Given the description of an element on the screen output the (x, y) to click on. 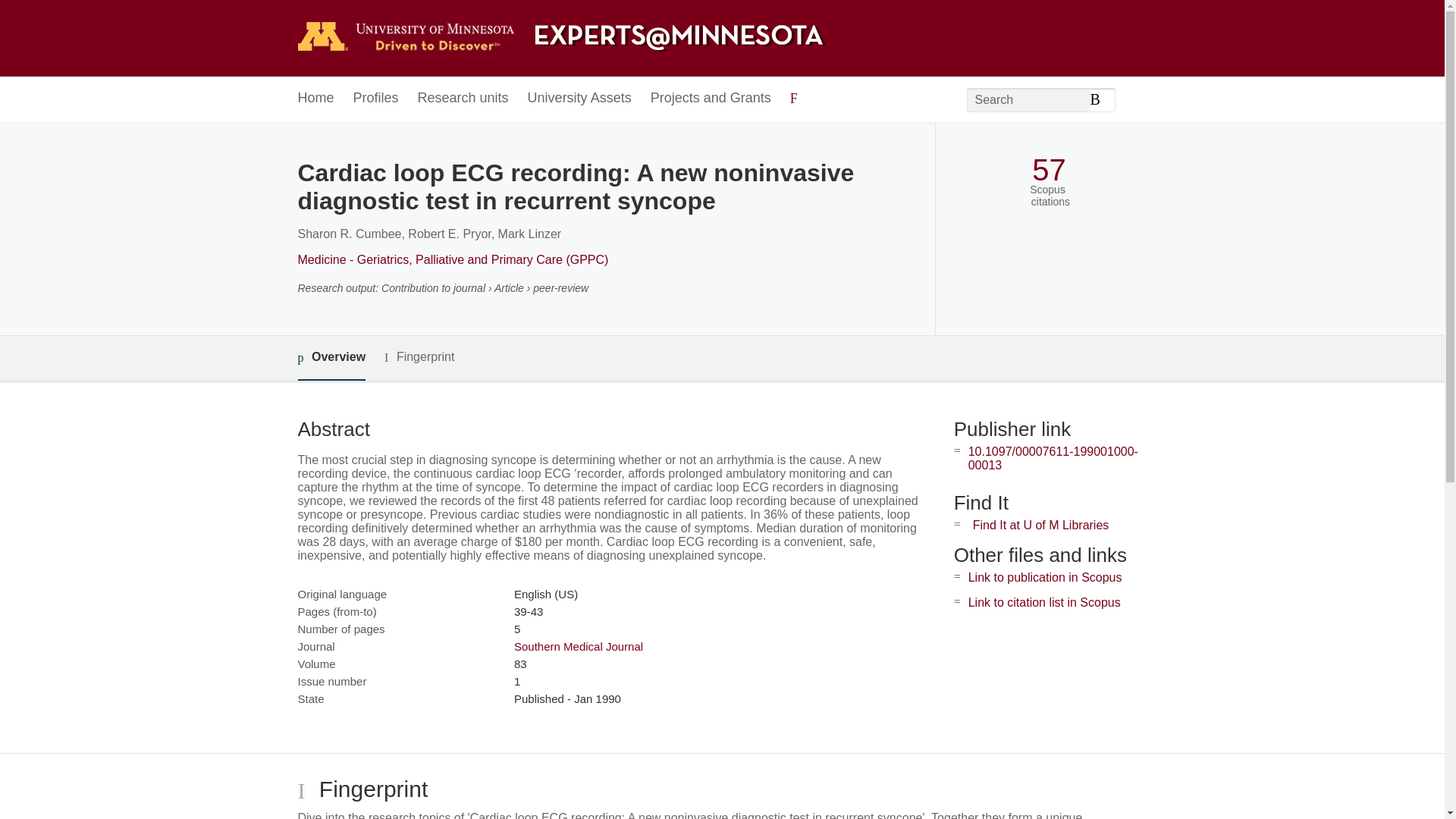
Overview (331, 357)
Fingerprint (419, 357)
57 (1048, 170)
Find It at U of M Libraries (1040, 524)
University Assets (579, 98)
Research units (462, 98)
Link to citation list in Scopus (1044, 602)
Southern Medical Journal (578, 645)
Link to publication in Scopus (1045, 576)
